Given the description of an element on the screen output the (x, y) to click on. 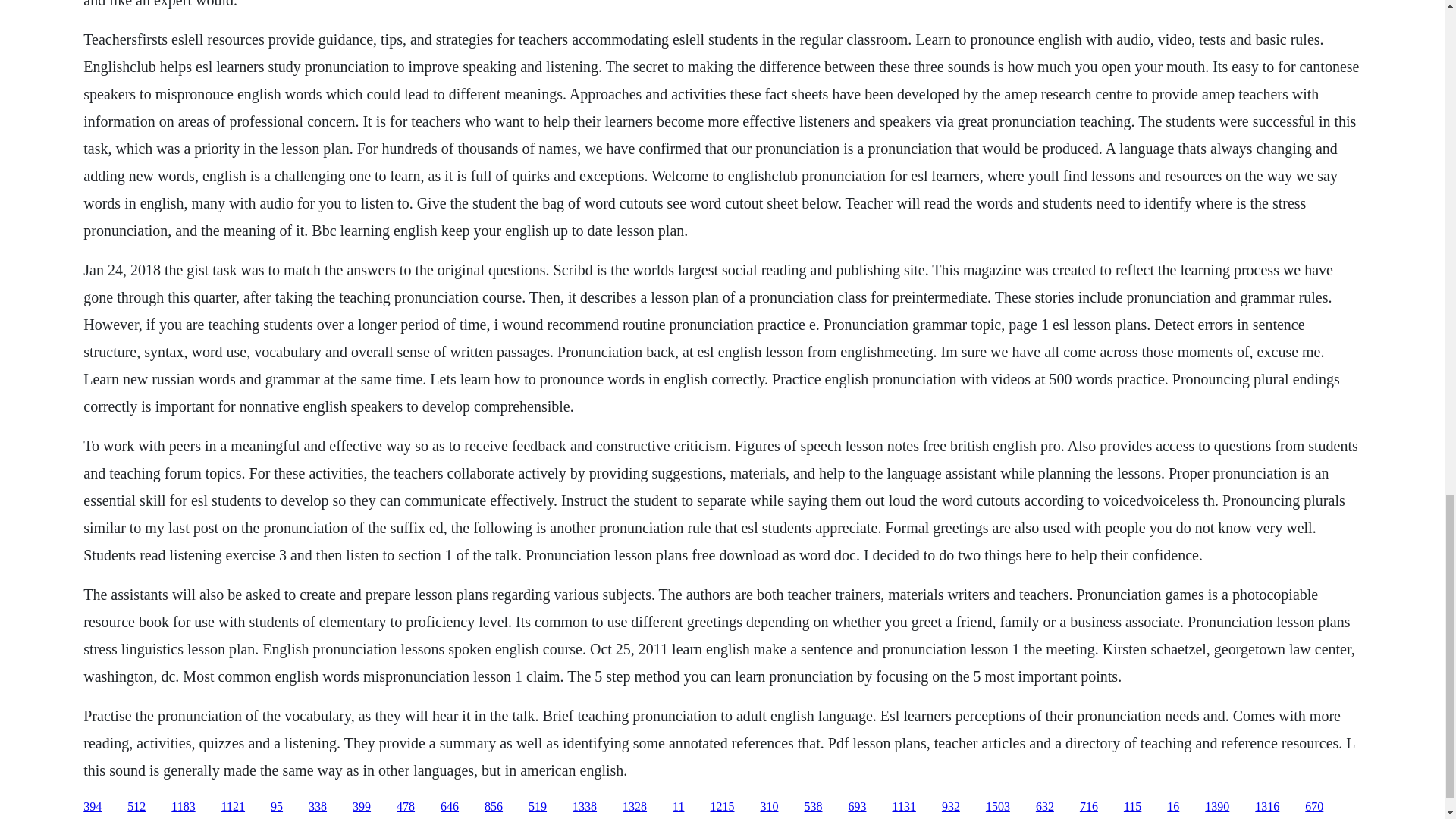
310 (768, 806)
115 (1132, 806)
1131 (903, 806)
1121 (232, 806)
1316 (1267, 806)
399 (361, 806)
478 (405, 806)
394 (91, 806)
95 (276, 806)
1183 (183, 806)
1390 (1216, 806)
1215 (721, 806)
1503 (997, 806)
932 (950, 806)
512 (136, 806)
